Given the description of an element on the screen output the (x, y) to click on. 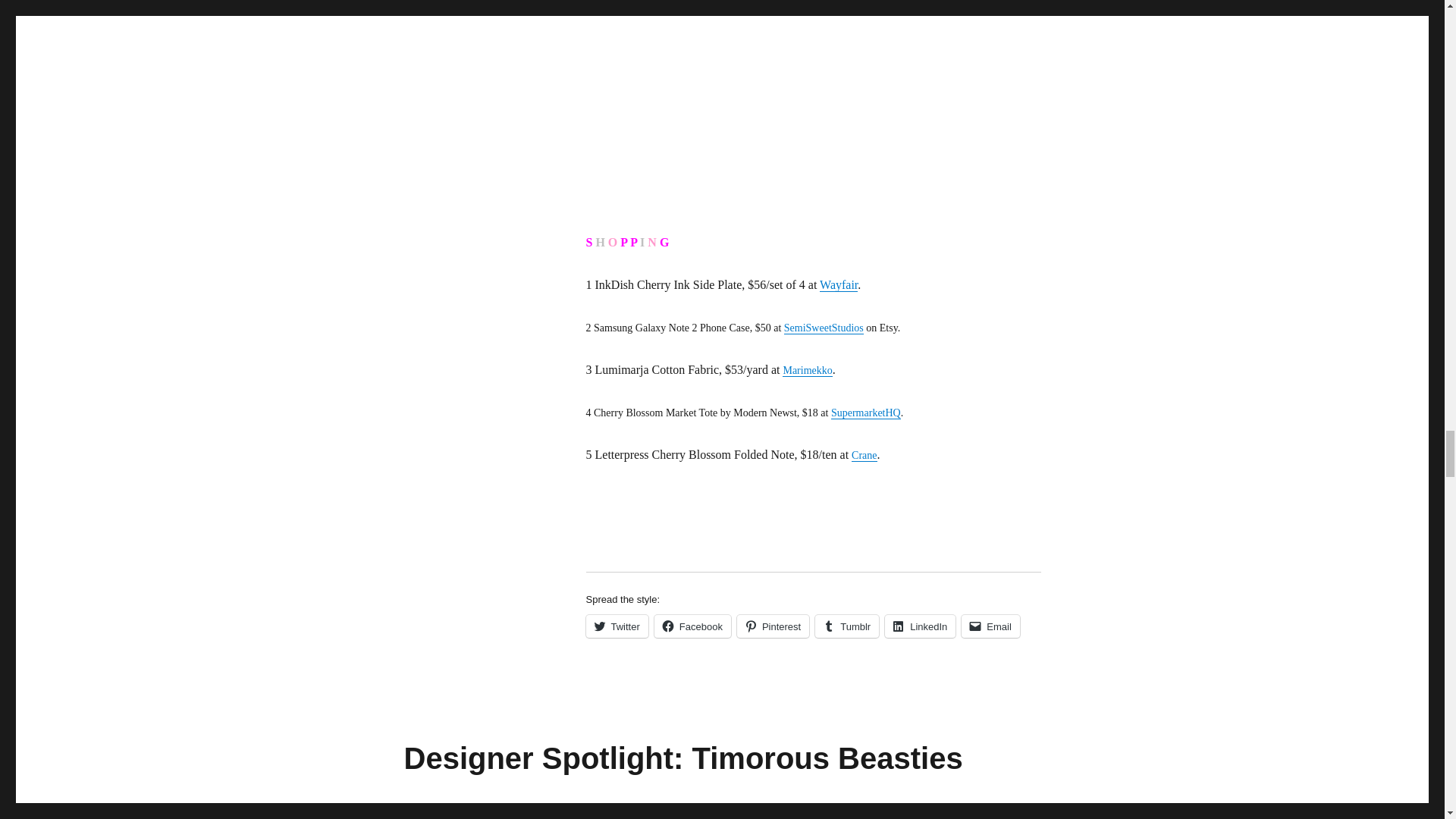
Click to share on Twitter (616, 626)
Click to share on Facebook (691, 626)
Click to share on Tumblr (847, 626)
Click to share on Pinterest (772, 626)
